Given the description of an element on the screen output the (x, y) to click on. 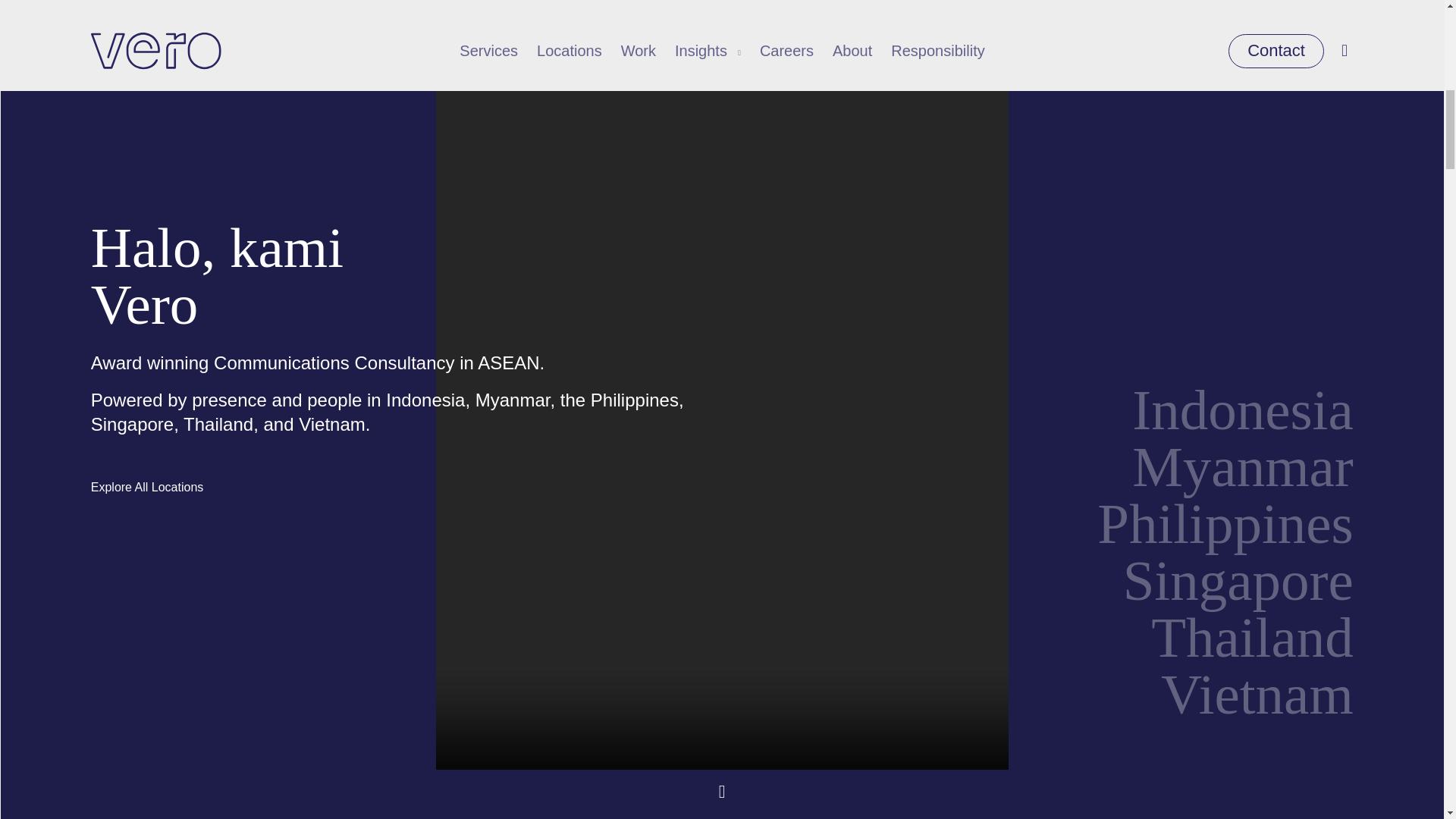
Explore All Locations (146, 354)
